Given the description of an element on the screen output the (x, y) to click on. 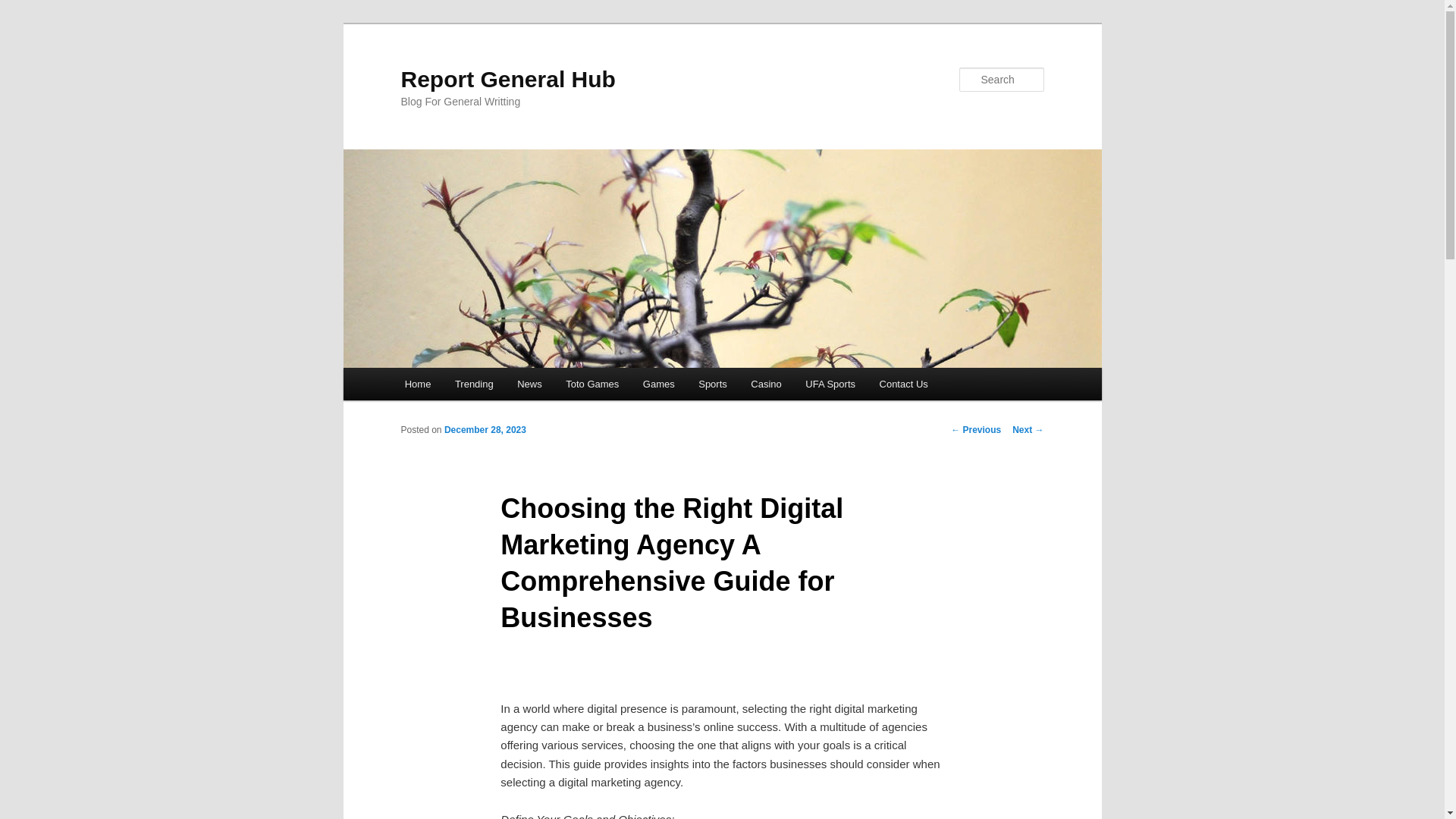
UFA Sports (830, 383)
Home (417, 383)
December 28, 2023 (484, 429)
Sports (711, 383)
Report General Hub (507, 78)
News (529, 383)
5:17 pm (484, 429)
Contact Us (903, 383)
Casino (766, 383)
